Given the description of an element on the screen output the (x, y) to click on. 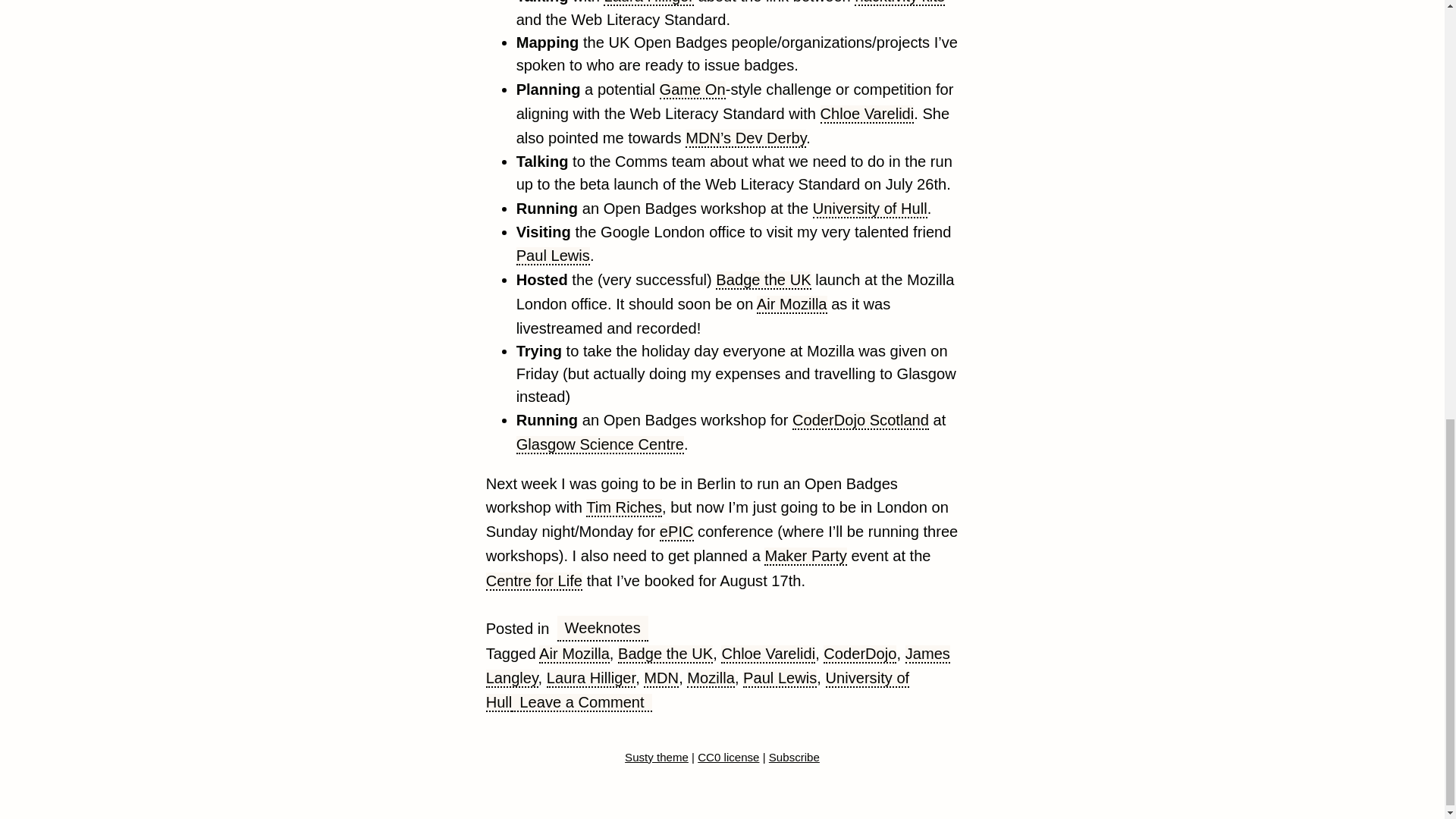
Weeknotes (602, 628)
James Langley (718, 666)
Air Mozilla (574, 654)
ePIC (676, 532)
Laura Hilliger (648, 2)
Glasgow Science Centre (600, 444)
Maker Party (804, 556)
Centre for Life (534, 580)
Chloe Varelidi (767, 654)
hacktivity kits (898, 2)
